Given the description of an element on the screen output the (x, y) to click on. 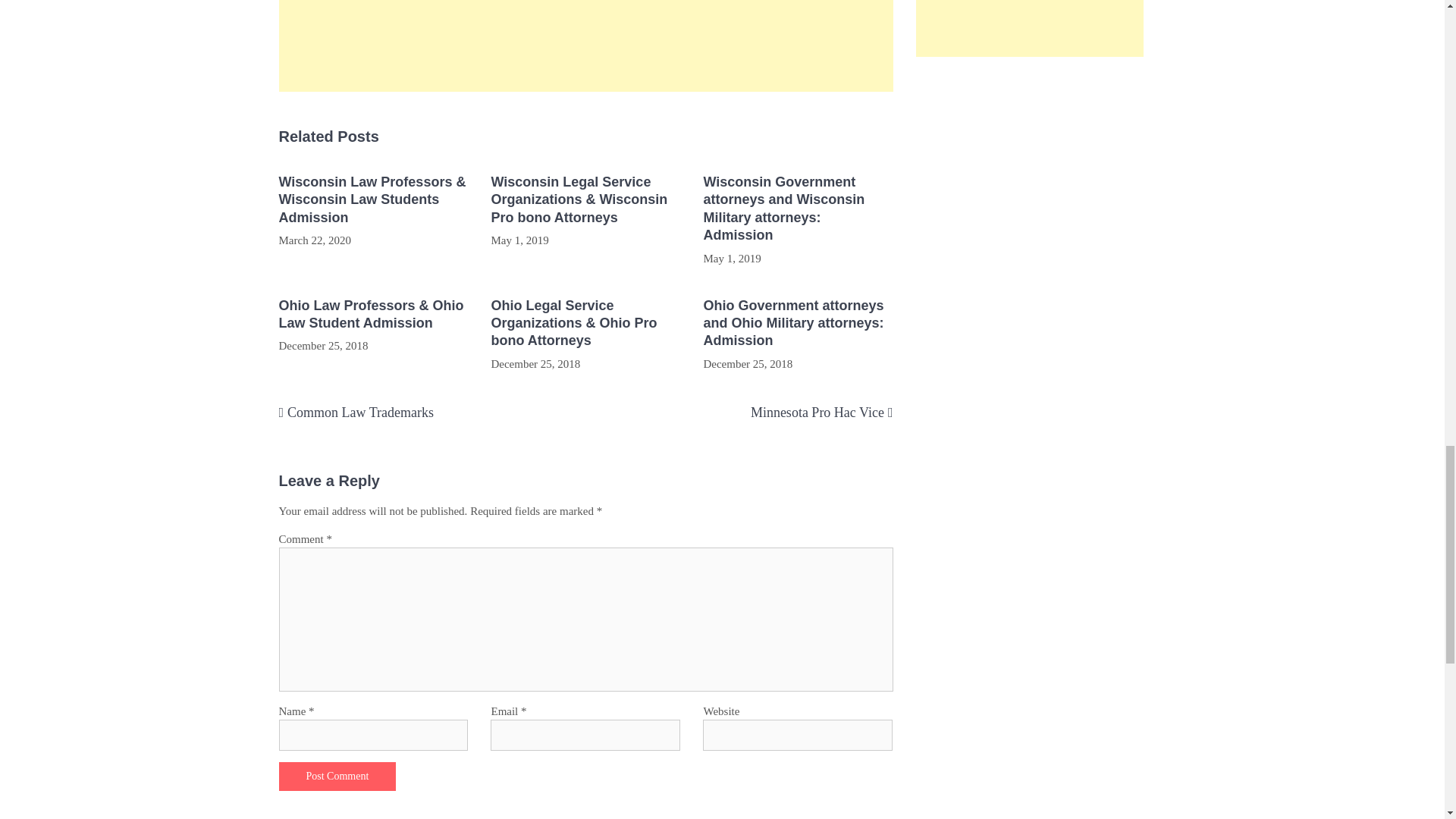
Post Comment (337, 776)
